Given the description of an element on the screen output the (x, y) to click on. 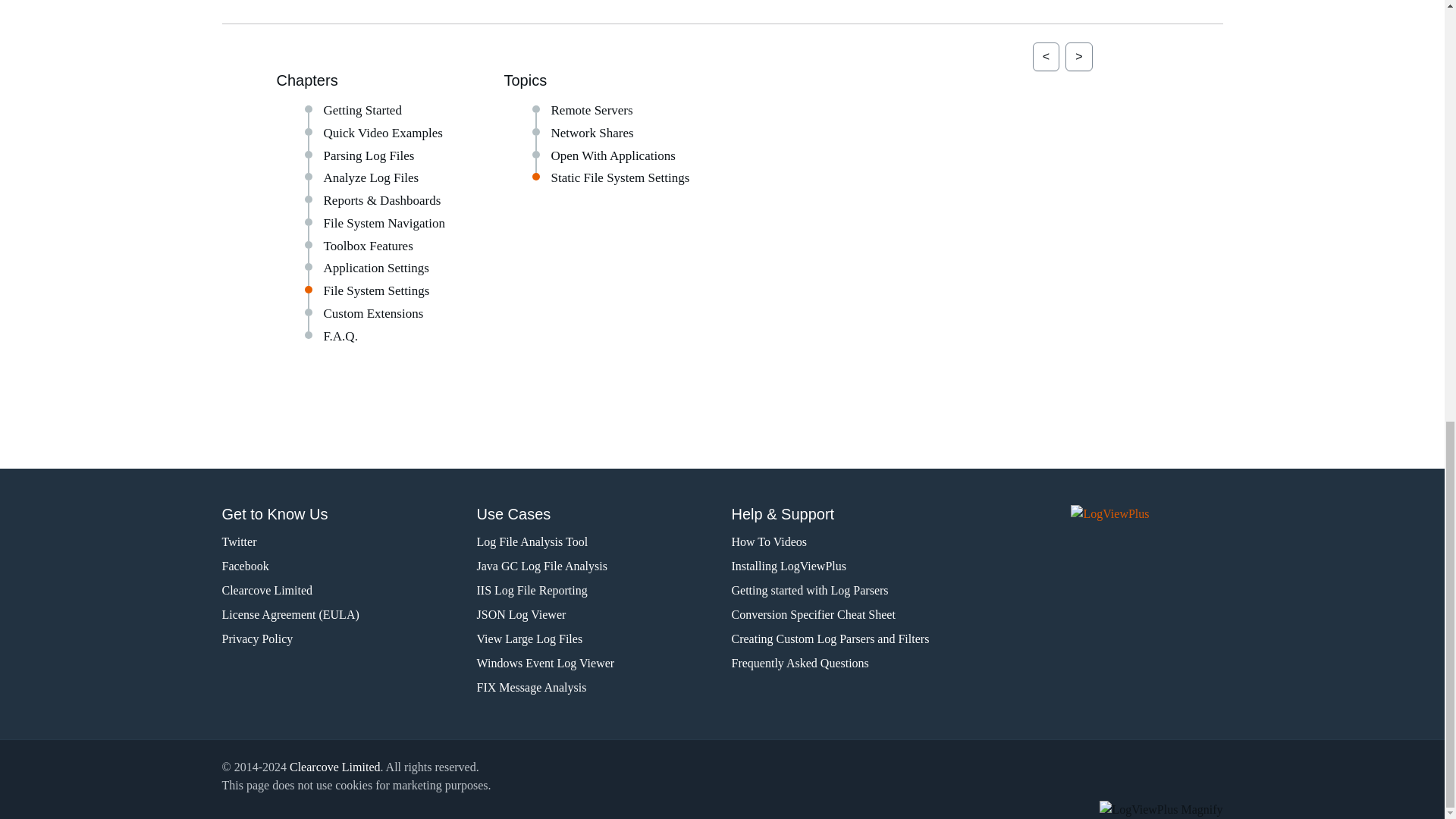
File System Navigation (384, 223)
Java GC Log File Analysis (594, 566)
Toolbox Features (367, 246)
Twitter (339, 542)
Log File Analysis Tool (594, 542)
LogViewPlus Home (1146, 520)
Facebook (339, 566)
F.A.Q. (339, 336)
Quick Video Examples (382, 133)
Open With Applications (612, 155)
